Given the description of an element on the screen output the (x, y) to click on. 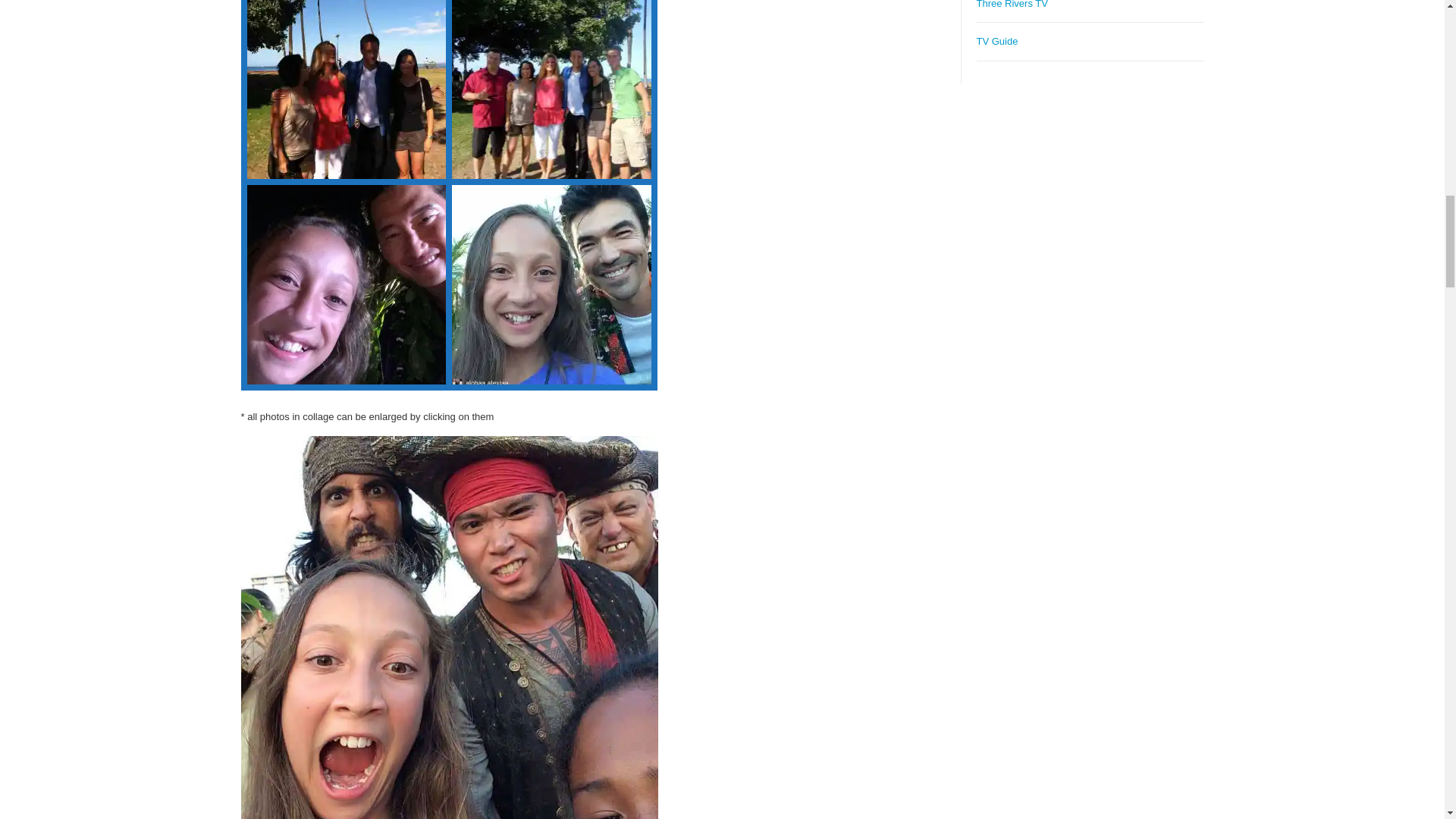
Sunset on the Beach fan experience (550, 89)
Sunset on the Beach fan experience (346, 284)
Sunset on the Beach fan experience (551, 290)
Sunset on the Beach fan experience (345, 290)
Sunset on the Beach fan experience (346, 89)
Sunset on the Beach fan experience (550, 284)
Sunset on the Beach fan experience (344, 94)
Sunset on the Beach fan experience (561, 92)
